Given the description of an element on the screen output the (x, y) to click on. 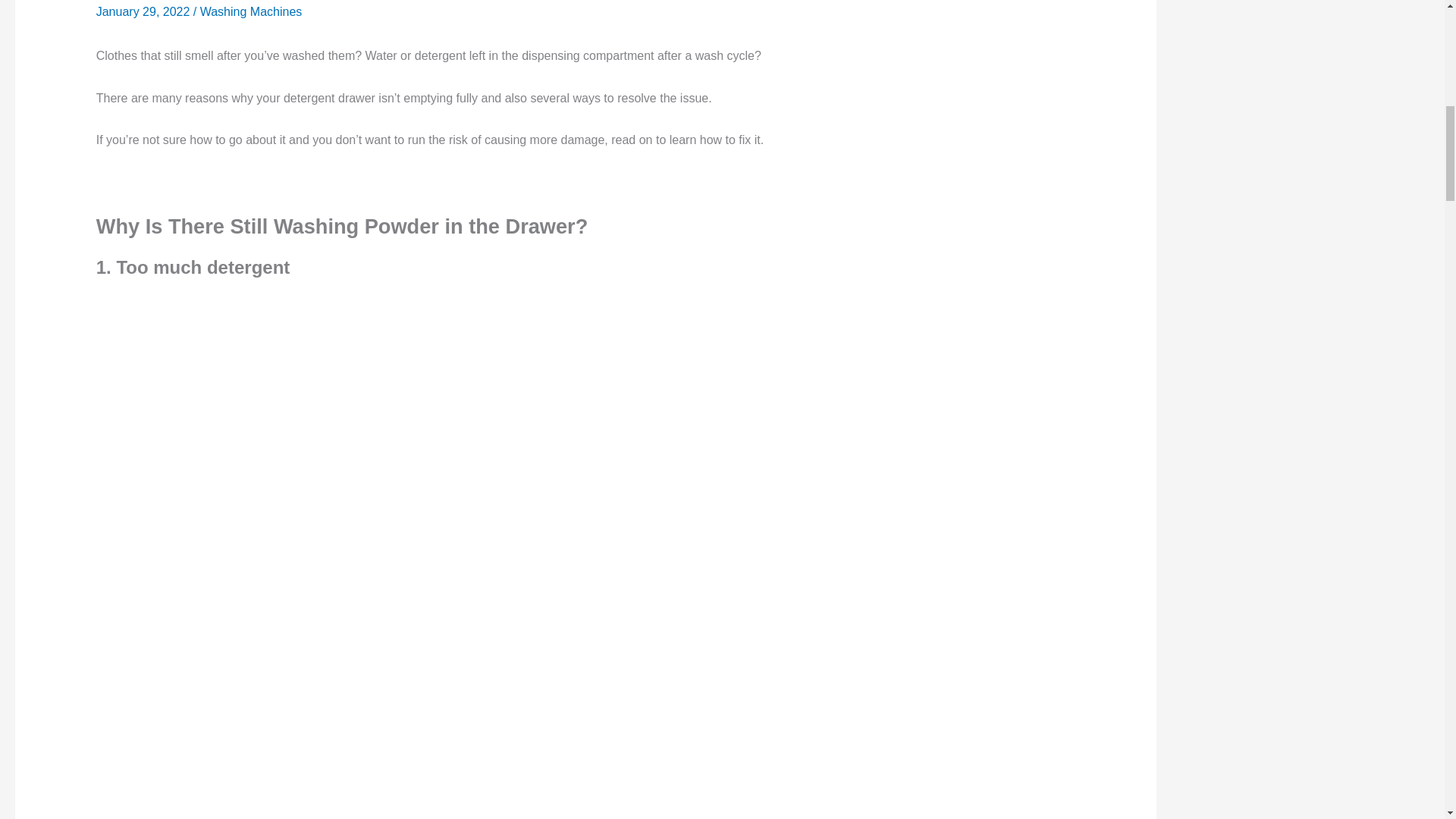
Washing Machines (251, 11)
